Given the description of an element on the screen output the (x, y) to click on. 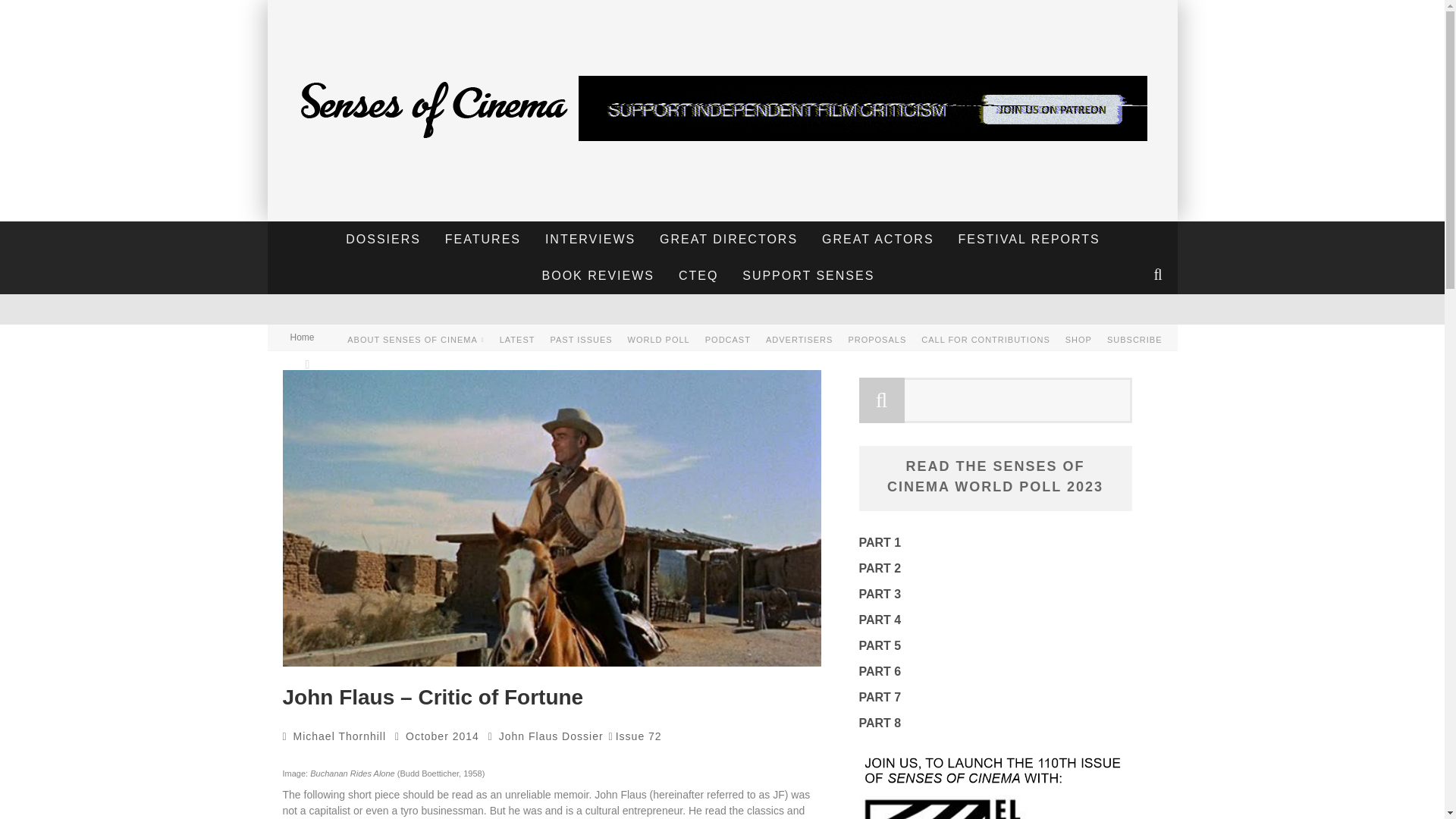
DOSSIERS (383, 239)
INTERVIEWS (590, 239)
FEATURES (482, 239)
